Given the description of an element on the screen output the (x, y) to click on. 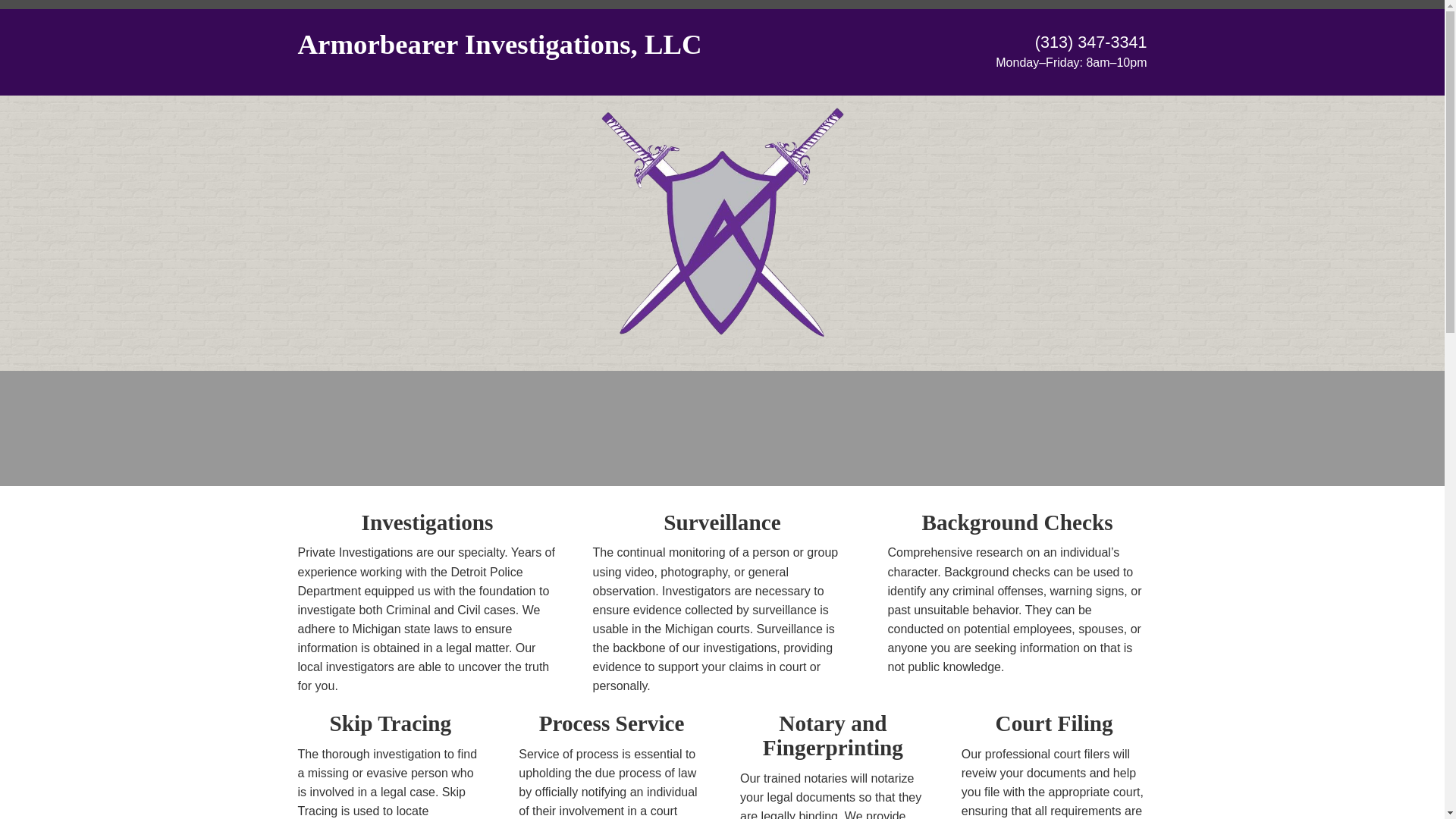
Armorbearer Investigations, LLC (499, 49)
